Given the description of an element on the screen output the (x, y) to click on. 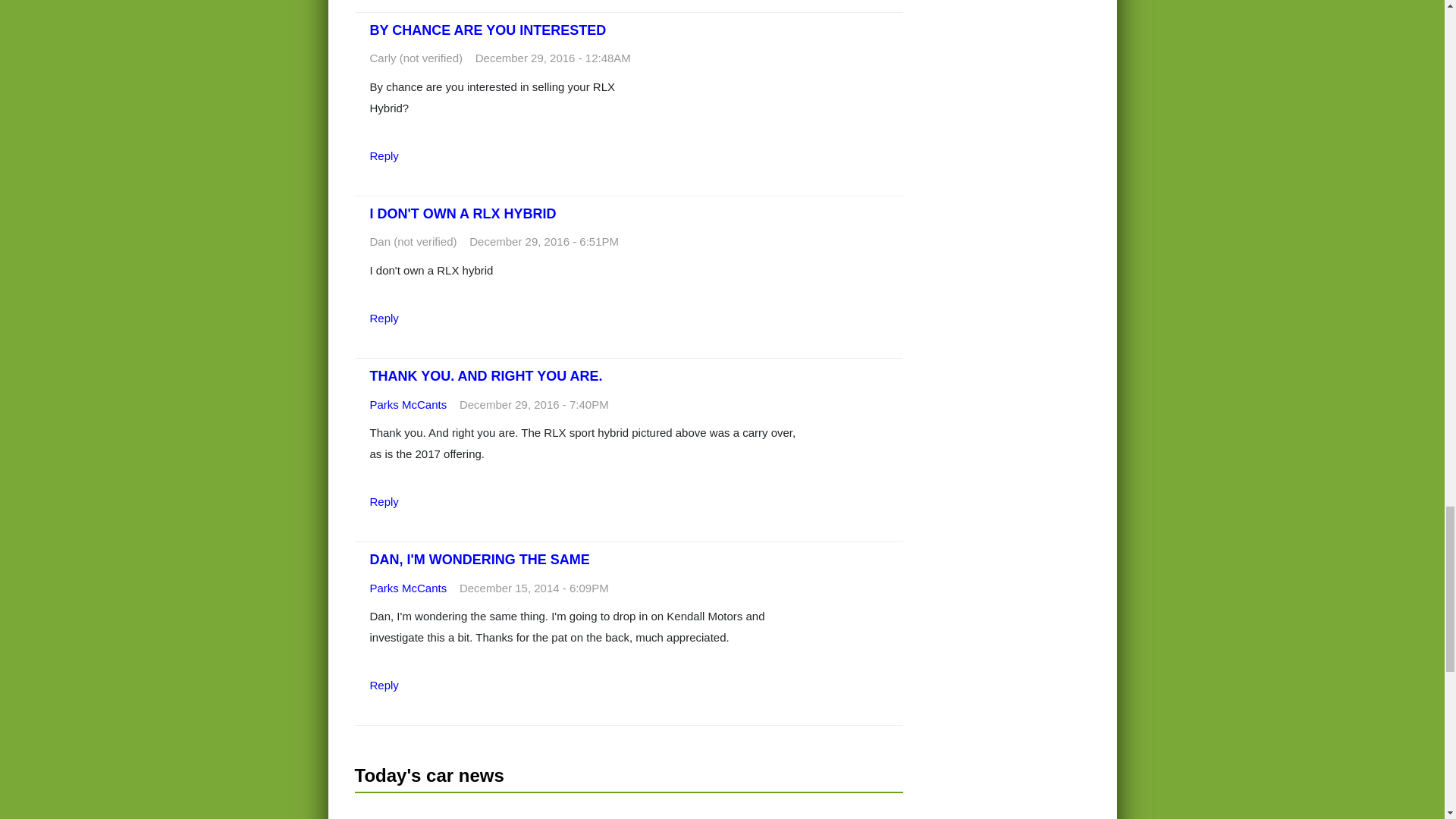
View user profile. (407, 587)
I DON'T OWN A RLX HYBRID (462, 213)
Reply (383, 155)
View user profile. (407, 404)
BY CHANCE ARE YOU INTERESTED (488, 29)
